Given the description of an element on the screen output the (x, y) to click on. 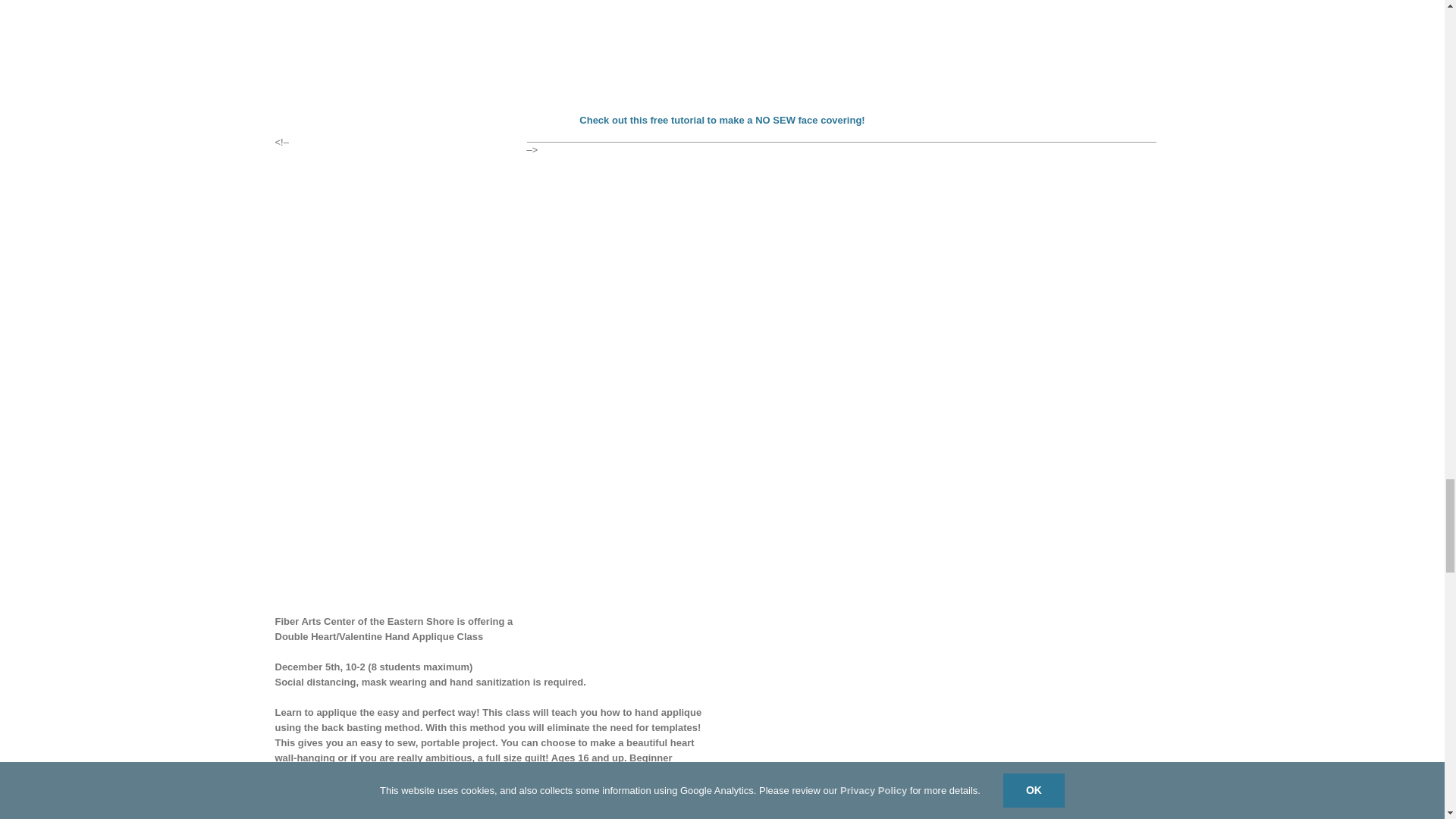
Check out this free tutorial to make a NO SEW face covering! (721, 120)
Check out this free tutorial to make a NO SEW face covering! (721, 120)
